Given the description of an element on the screen output the (x, y) to click on. 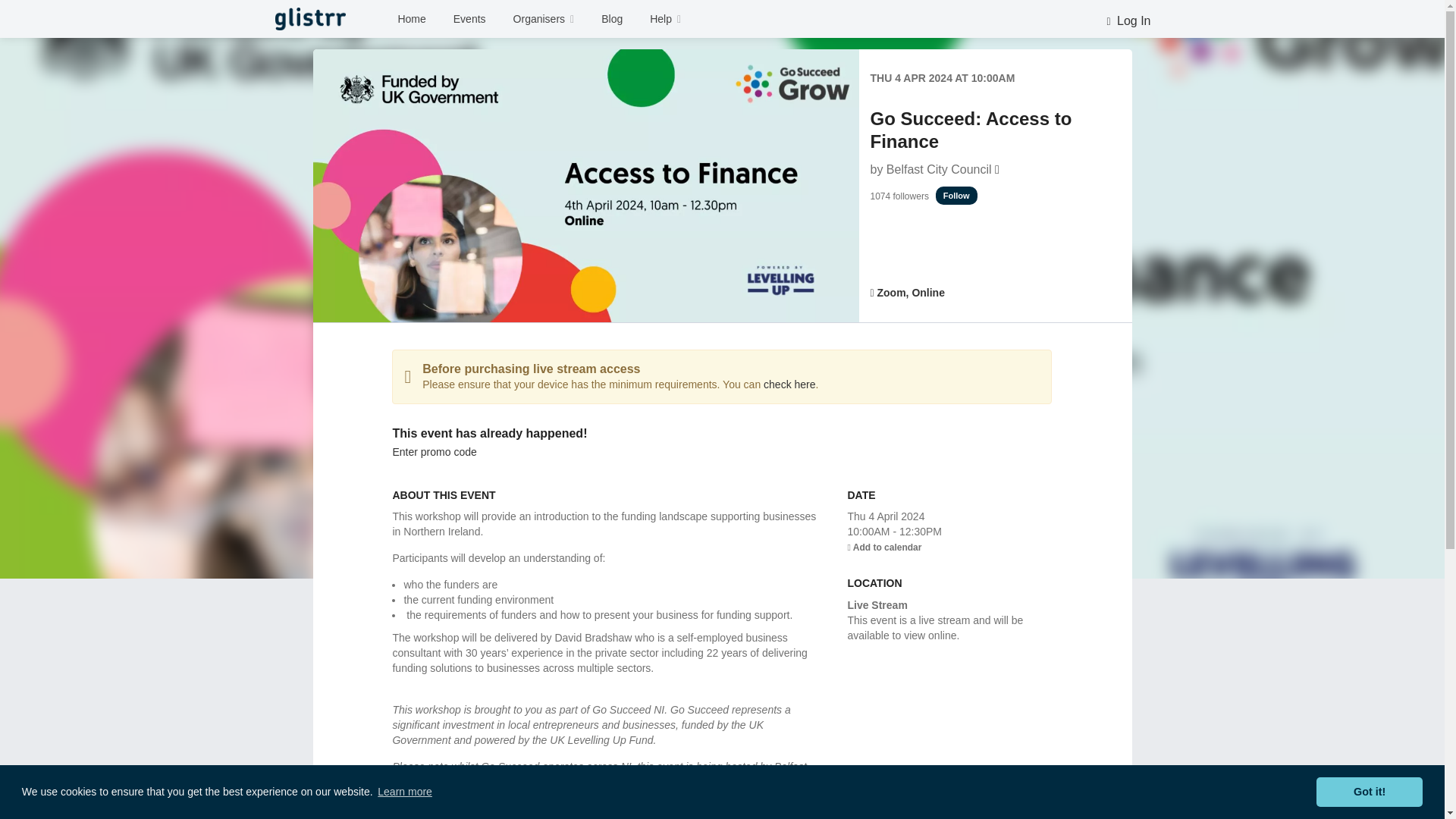
Zoom, Online (907, 292)
Enter promo code (433, 451)
Events (469, 18)
Learn more (404, 791)
Add to calendar (884, 547)
Got it! (1369, 791)
Home (410, 18)
Blog (611, 18)
Help (666, 18)
Log In (1128, 20)
Organisers (544, 18)
check here (788, 384)
Follow (956, 195)
